Given the description of an element on the screen output the (x, y) to click on. 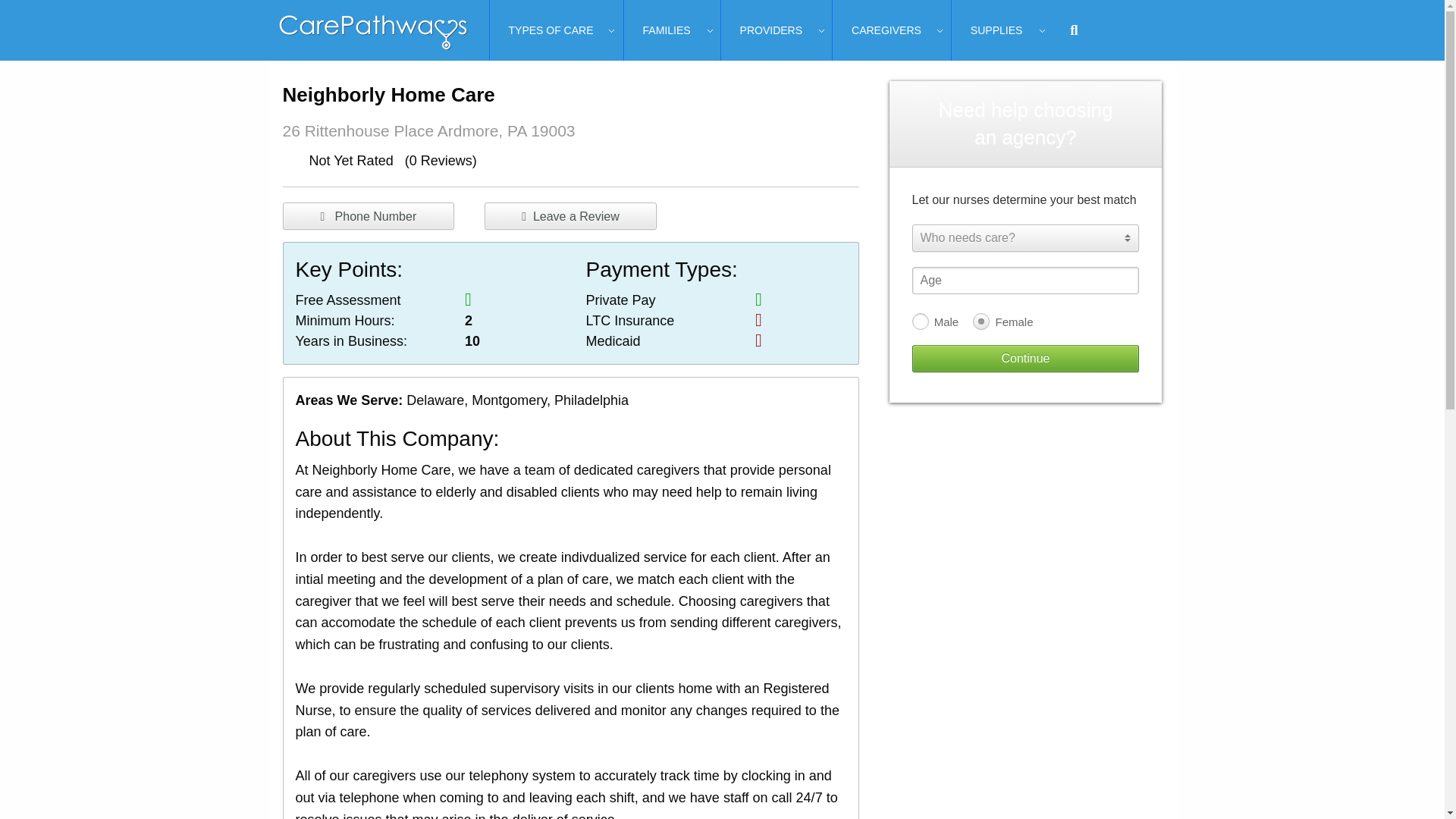
  Leave a Review (570, 216)
  Phone Number (368, 216)
SUPPLIES (996, 30)
FAMILIES (666, 30)
TYPES OF CARE (550, 30)
Continue (1024, 358)
CAREGIVERS (885, 30)
PROVIDERS (771, 30)
